Given the description of an element on the screen output the (x, y) to click on. 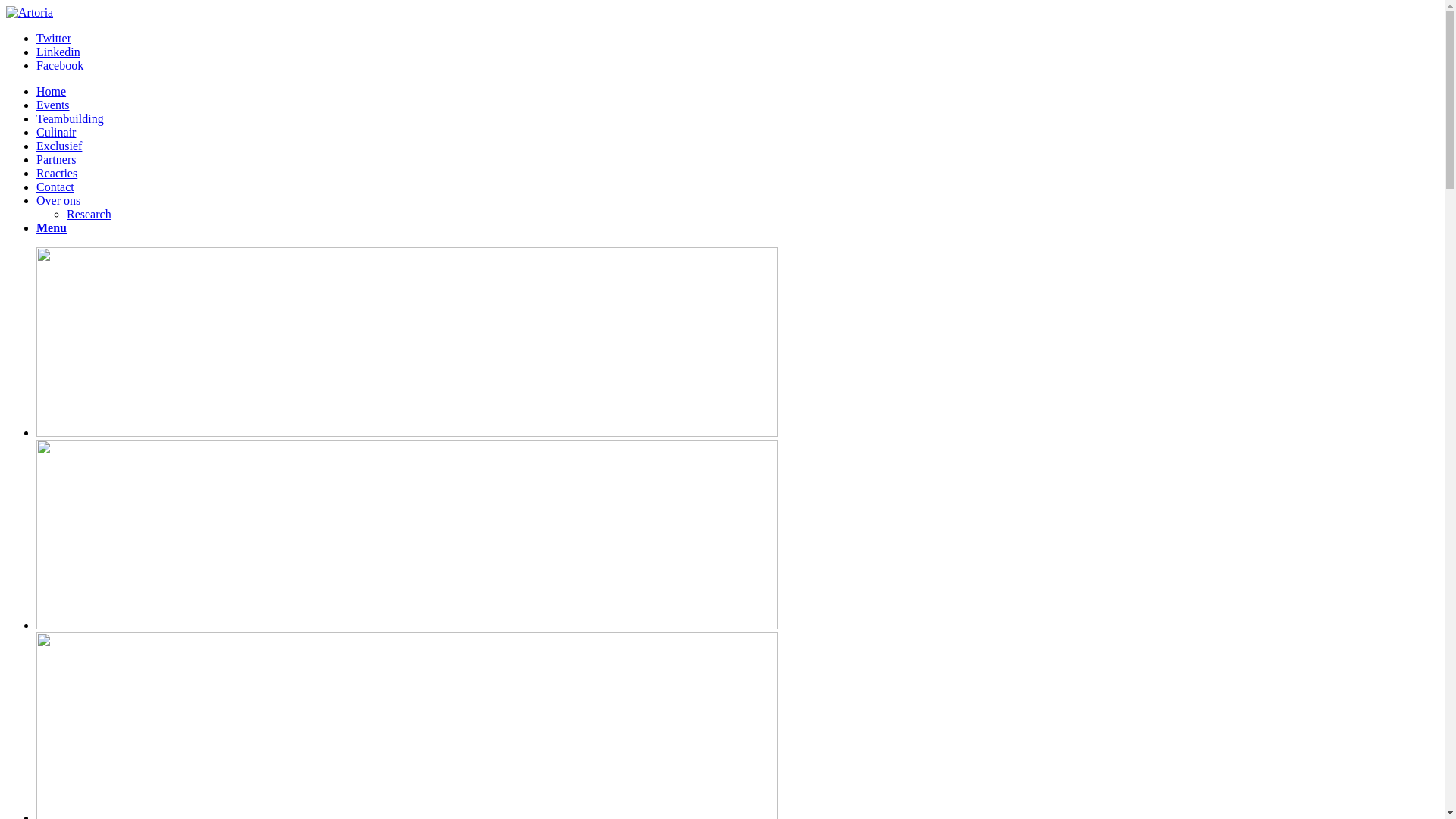
Partners Element type: text (55, 159)
Reacties Element type: text (56, 172)
Event Gent Element type: hover (407, 341)
Twitter Element type: text (53, 37)
Linkedin Element type: text (58, 51)
Contact Element type: text (55, 186)
Exclusief Element type: text (58, 145)
Research Element type: text (88, 213)
Home Element type: text (50, 90)
Over ons Element type: text (58, 200)
Events Element type: text (52, 104)
Facebook Element type: text (59, 65)
Culinair Element type: text (55, 131)
Menu Element type: text (51, 227)
Teambuilding Gent Element type: hover (407, 534)
Teambuilding Element type: text (69, 118)
